Given the description of an element on the screen output the (x, y) to click on. 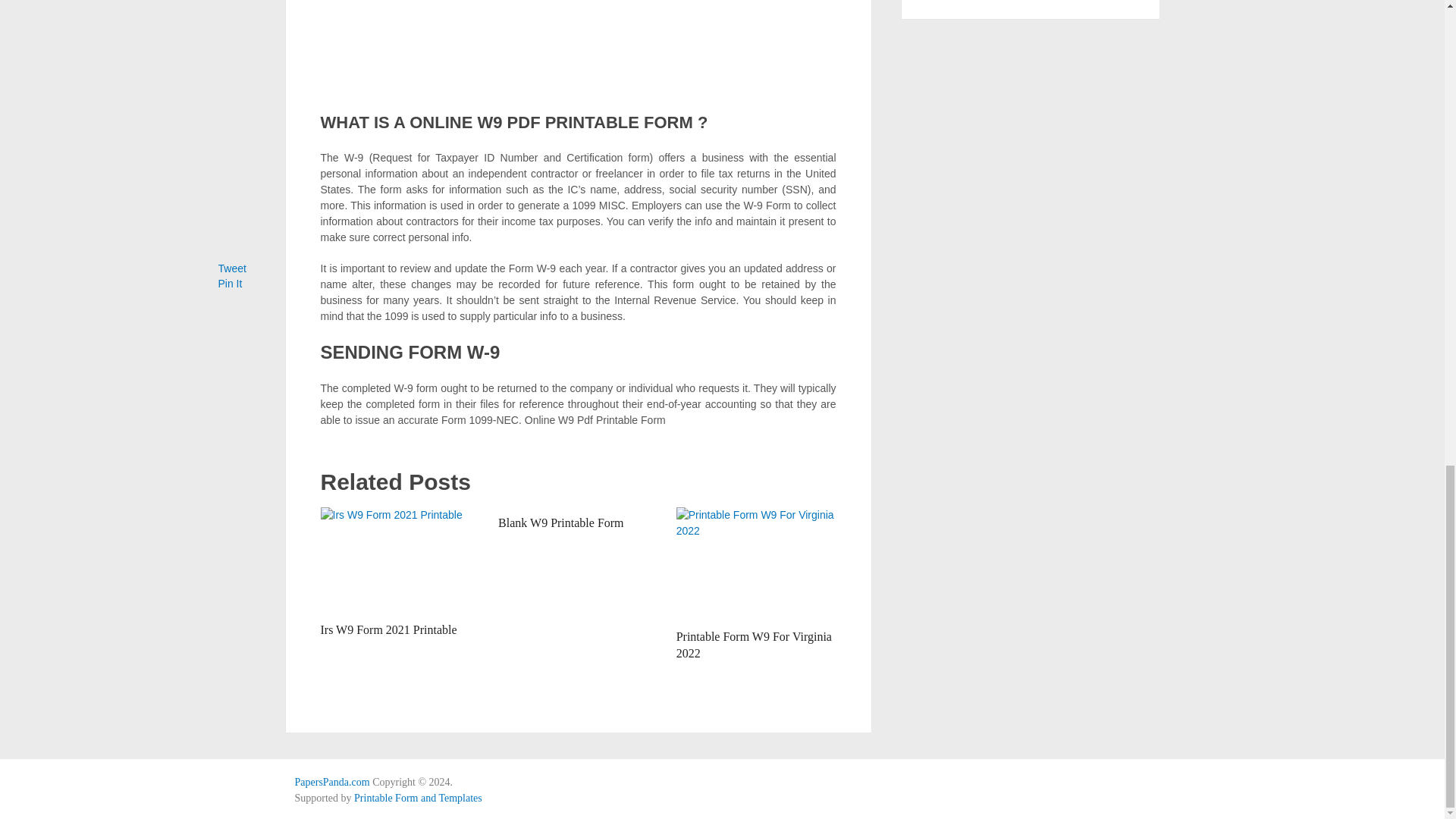
PapersPanda.com (331, 781)
Irs W9 Form 2021 Printable (400, 560)
Printable Form W9 For Virginia 2022 (754, 644)
Printable Form W9 For Virginia 2022 (756, 563)
Blank W9 Printable Form (560, 522)
Irs W9 Form 2021 Printable (388, 629)
Irs W9 Form 2021 Printable (388, 629)
Blank W9 Printable Form (560, 522)
Printable Form and Templates (417, 797)
Printable Form W9 For Virginia 2022 (754, 644)
 Printable Form, Letter, and Templates (331, 781)
